Given the description of an element on the screen output the (x, y) to click on. 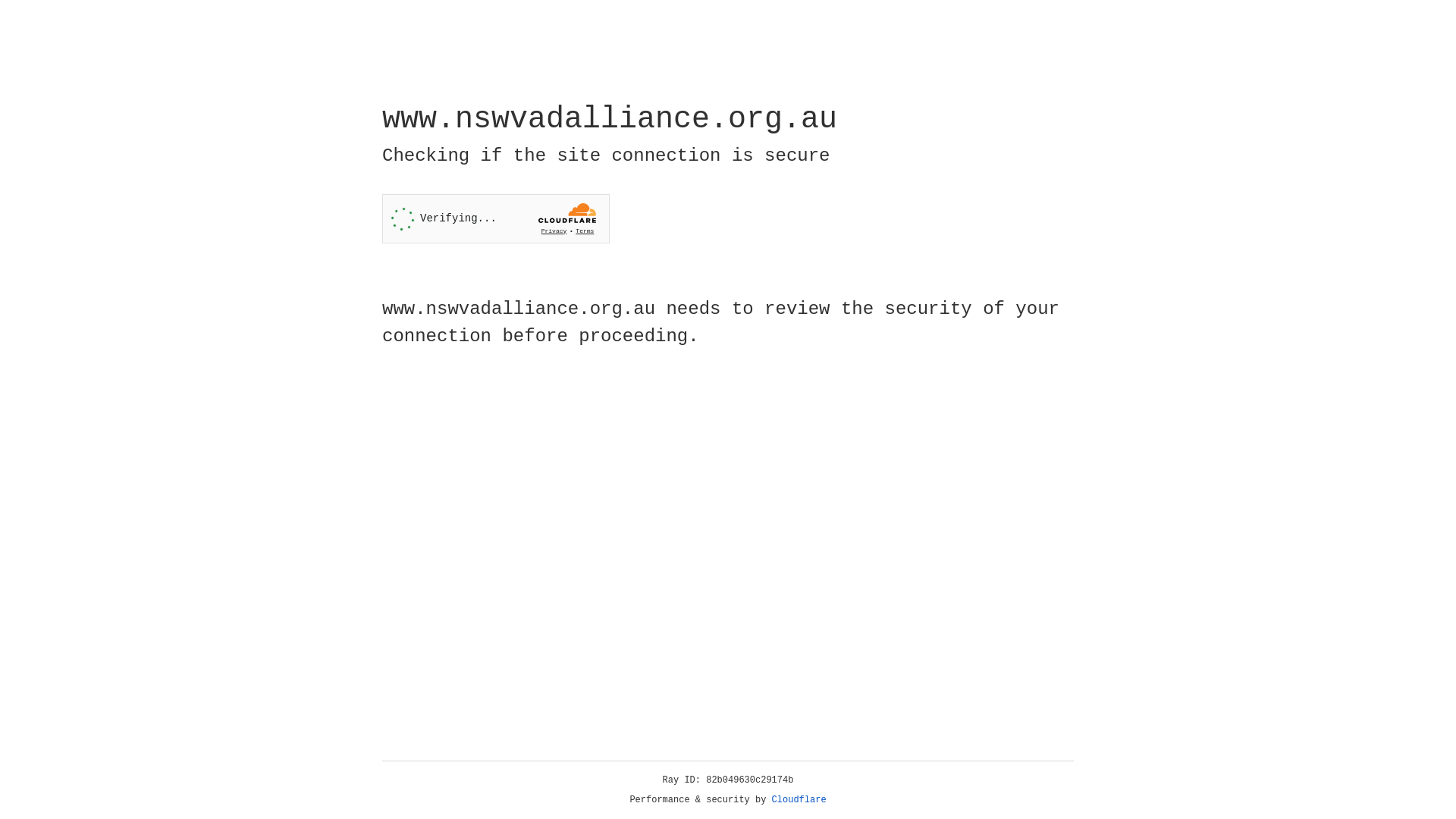
Widget containing a Cloudflare security challenge Element type: hover (495, 218)
Cloudflare Element type: text (798, 799)
